Given the description of an element on the screen output the (x, y) to click on. 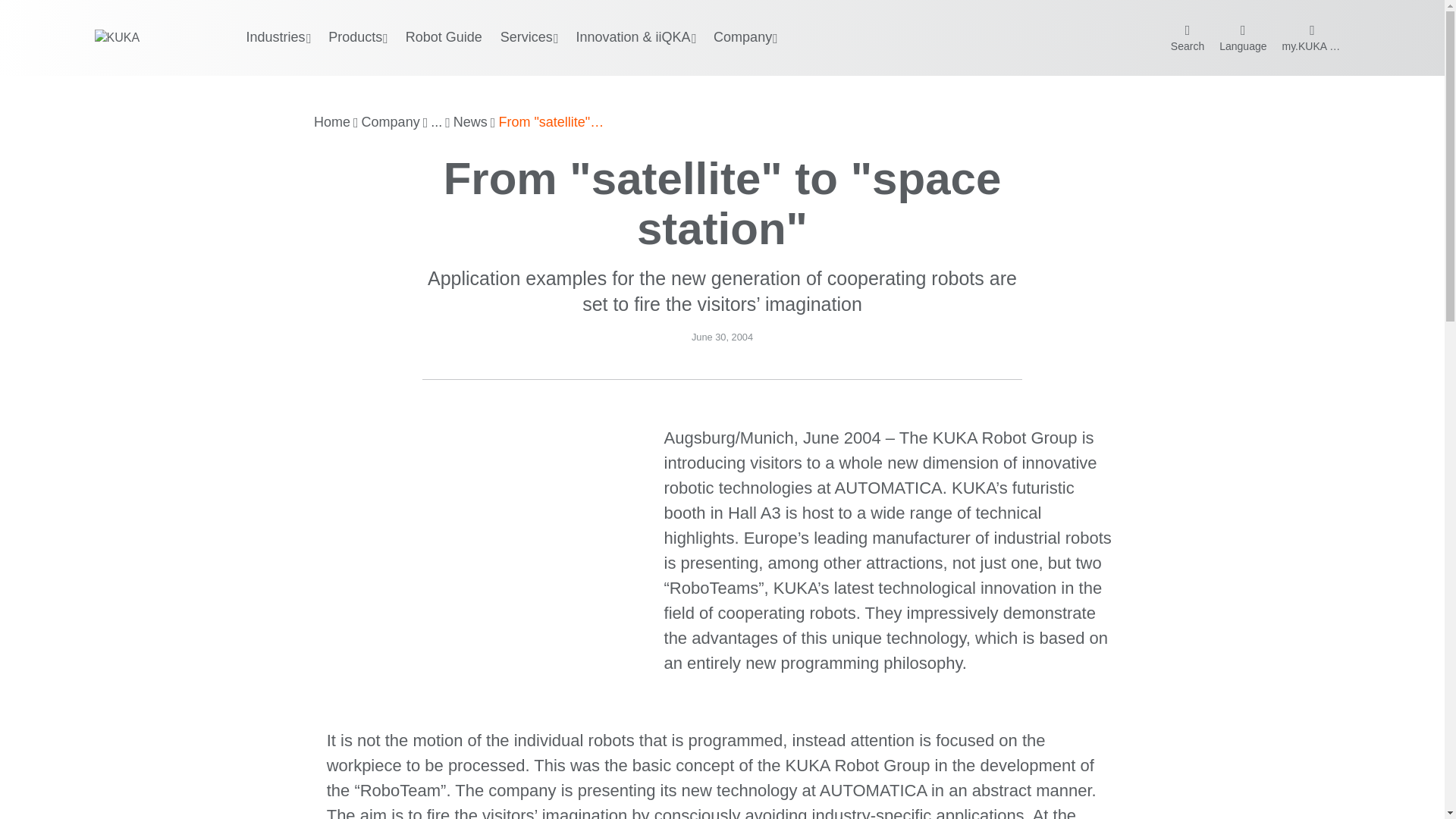
Company (390, 122)
News (469, 122)
From "satellite" to "space station" (551, 122)
Home (332, 122)
Show entire List (436, 122)
